Given the description of an element on the screen output the (x, y) to click on. 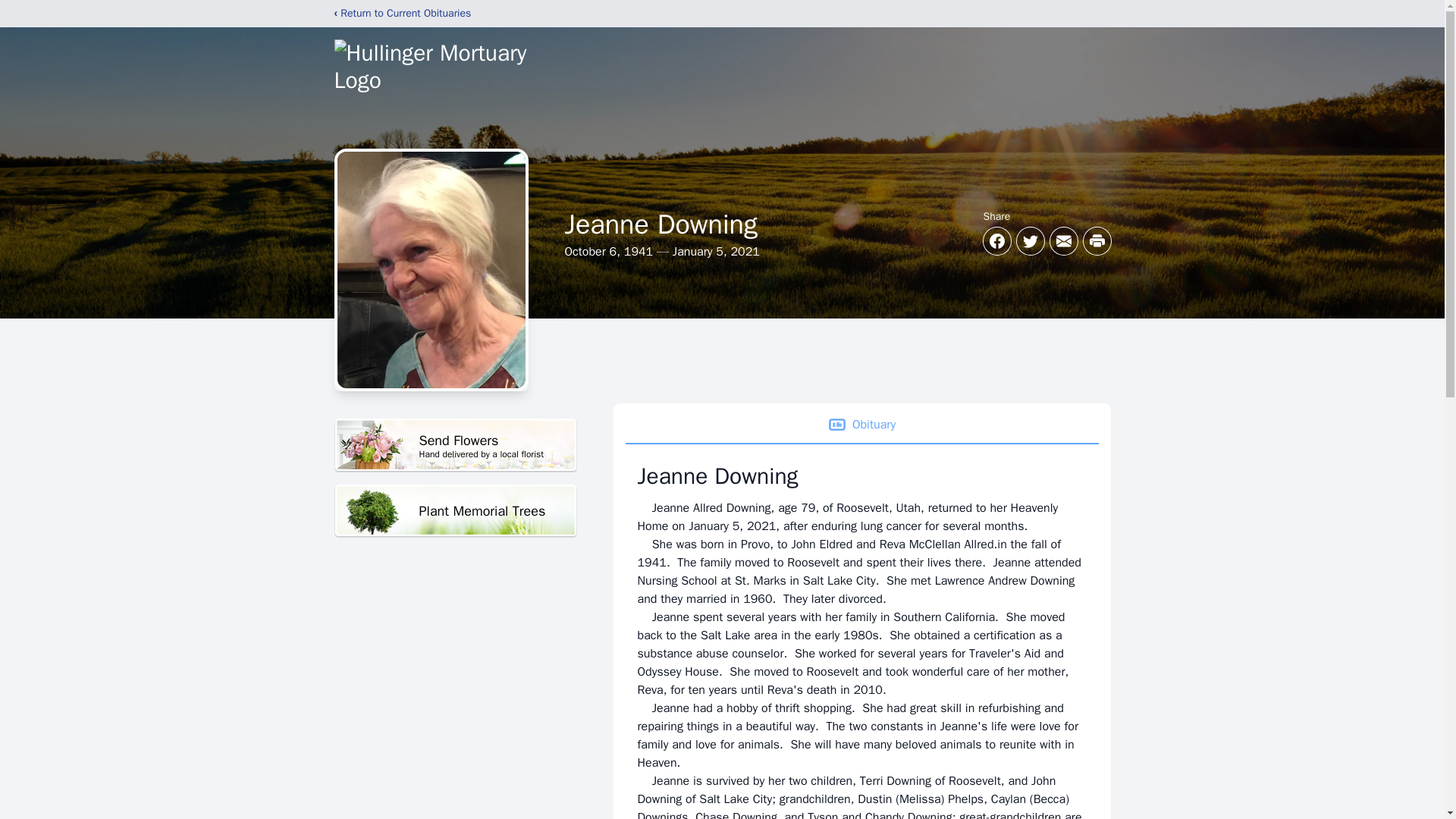
Obituary (860, 425)
Plant Memorial Trees (454, 445)
